Given the description of an element on the screen output the (x, y) to click on. 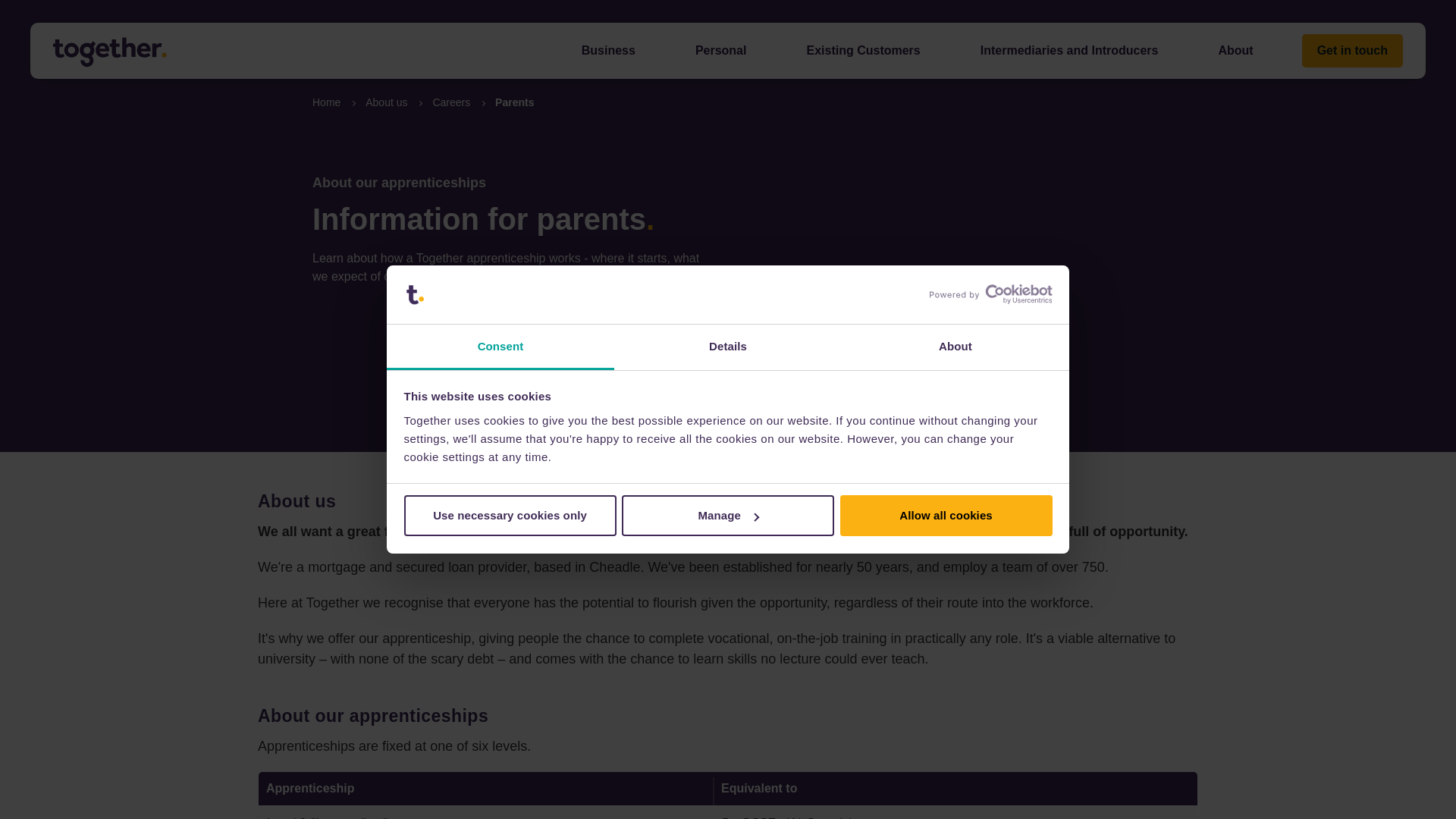
Consent (500, 347)
About (954, 347)
Details (727, 347)
